Given the description of an element on the screen output the (x, y) to click on. 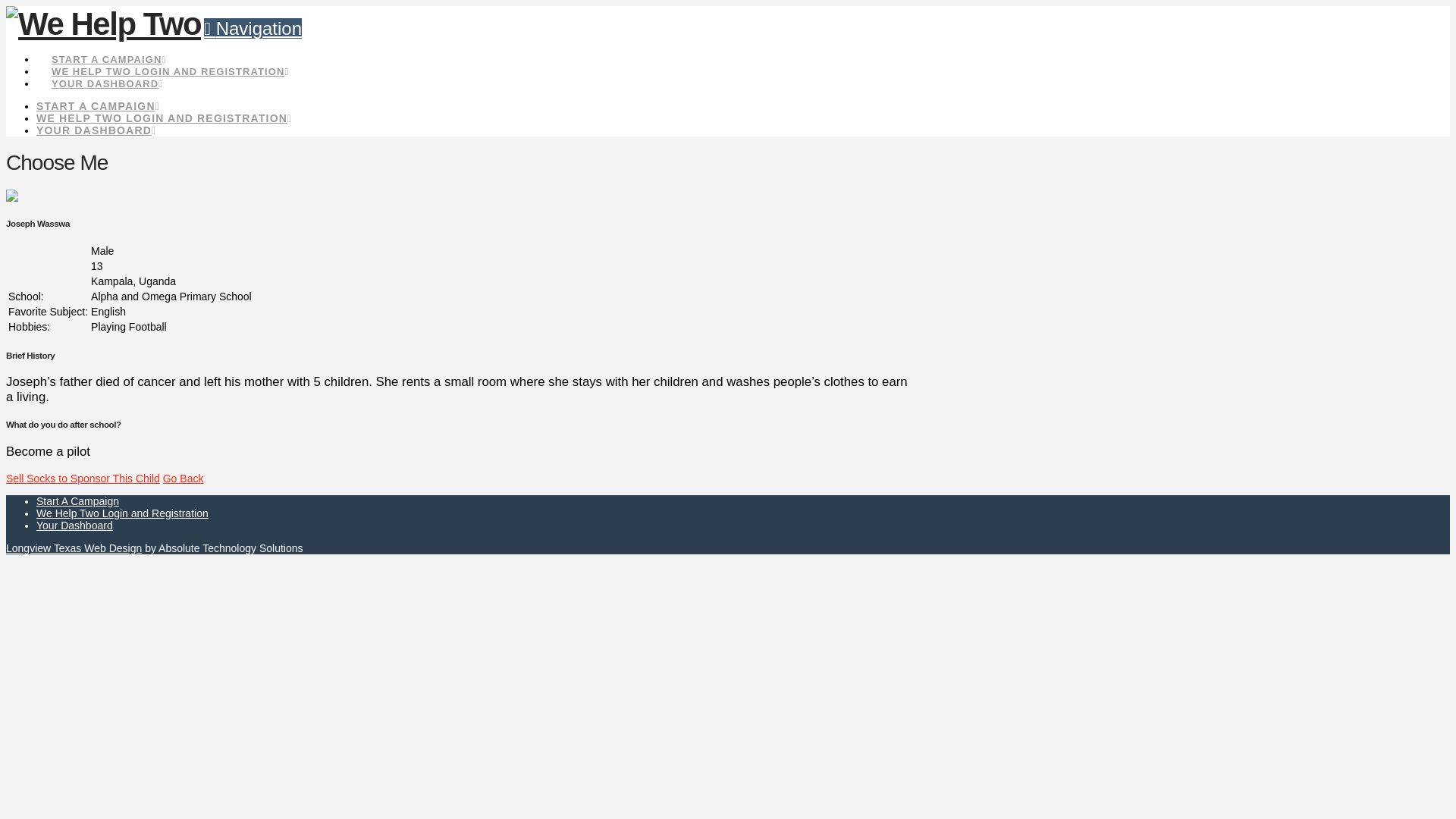
WE HELP TWO LOGIN AND REGISTRATION (169, 56)
Your Dashboard (74, 525)
YOUR DASHBOARD (95, 130)
Navigation (252, 28)
START A CAMPAIGN (108, 45)
Start A Campaign (77, 500)
Sell Socks to Sponsor This Child (82, 478)
YOUR DASHBOARD (106, 69)
Go Back (183, 478)
START A CAMPAIGN (98, 105)
WE HELP TWO LOGIN AND REGISTRATION (164, 118)
We Help Two Login and Registration (122, 512)
